Given the description of an element on the screen output the (x, y) to click on. 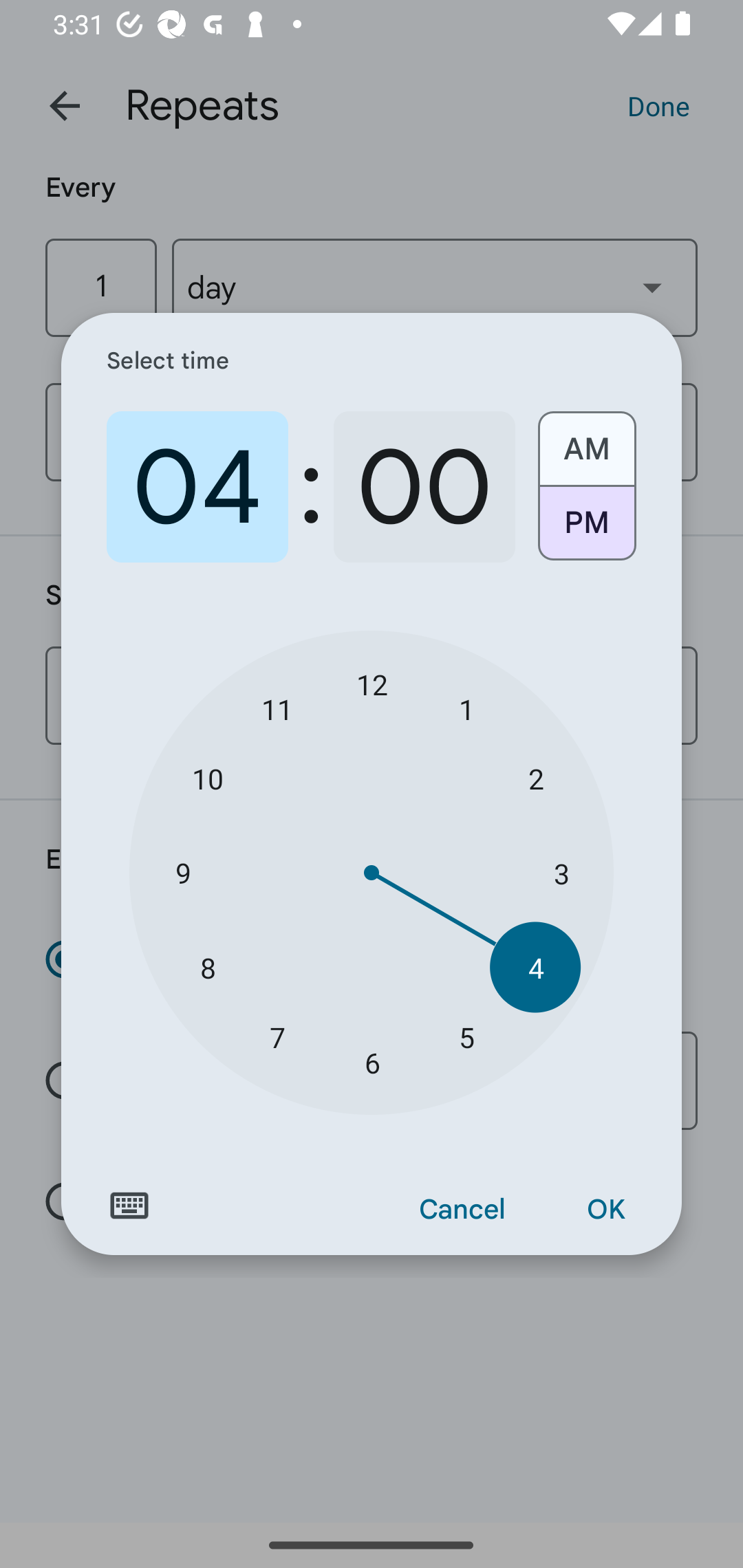
AM (586, 441)
04 4 o'clock (197, 486)
00 0 minutes (424, 486)
PM (586, 529)
12 12 o'clock (371, 683)
11 11 o'clock (276, 708)
1 1 o'clock (466, 708)
10 10 o'clock (207, 778)
2 2 o'clock (535, 778)
9 9 o'clock (182, 872)
3 3 o'clock (561, 872)
8 8 o'clock (207, 966)
4 4 o'clock (535, 966)
7 7 o'clock (276, 1035)
5 5 o'clock (466, 1035)
6 6 o'clock (371, 1062)
Switch to text input mode for the time input. (128, 1205)
Cancel (462, 1209)
OK (605, 1209)
